Given the description of an element on the screen output the (x, y) to click on. 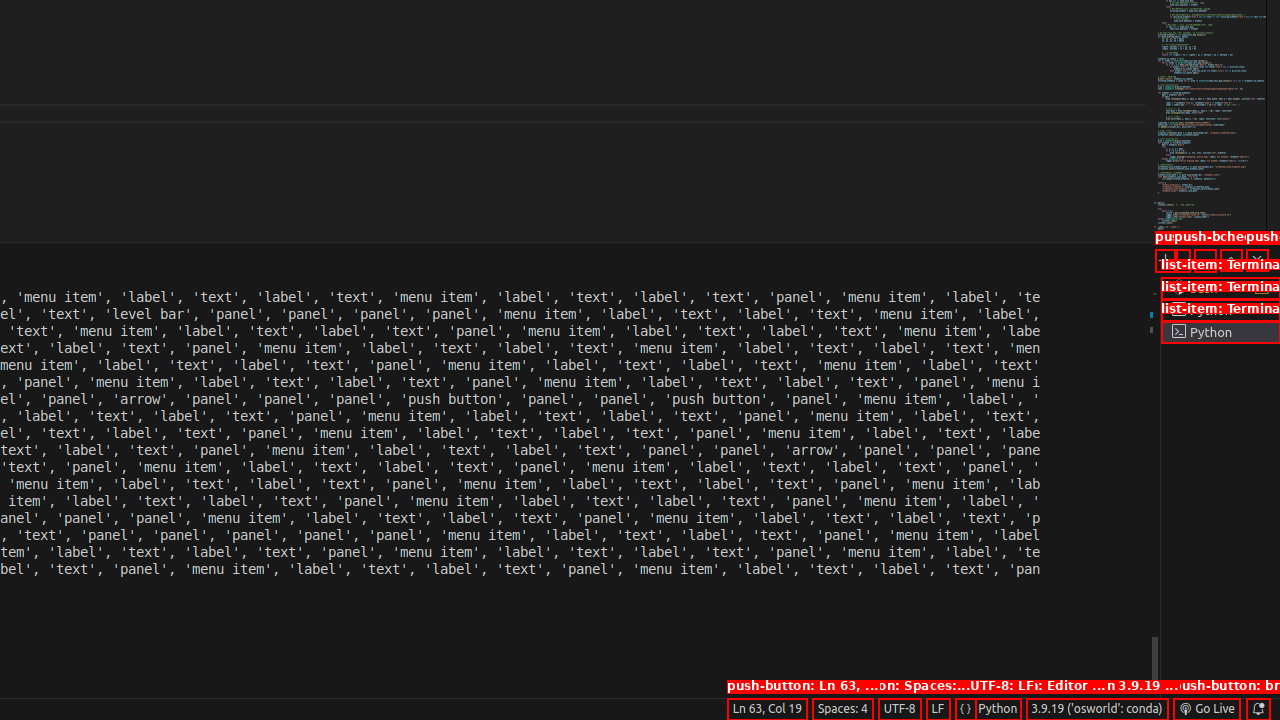
3.9.19 ('osworld': conda), ~/anaconda3/envs/osworld/bin/python Element type: push-button (1097, 709)
UTF-8 Element type: push-button (899, 709)
Editor Language Status: Auto Import Completions: false, next: Type Checking: off Element type: push-button (965, 709)
Terminal 5 Python Element type: list-item (1220, 332)
Views and More Actions... Element type: push-button (1205, 260)
